Given the description of an element on the screen output the (x, y) to click on. 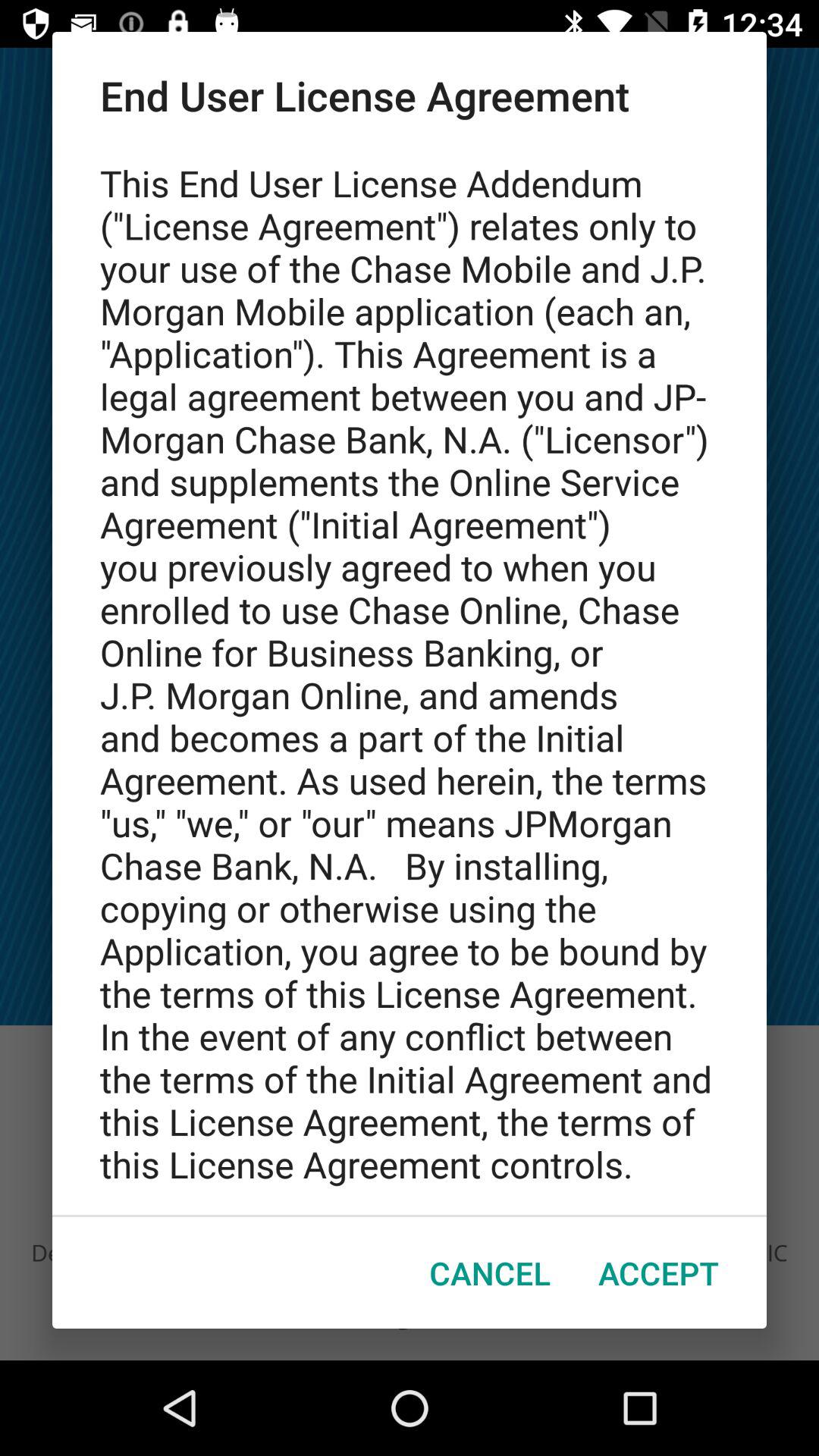
turn on accept icon (658, 1272)
